Given the description of an element on the screen output the (x, y) to click on. 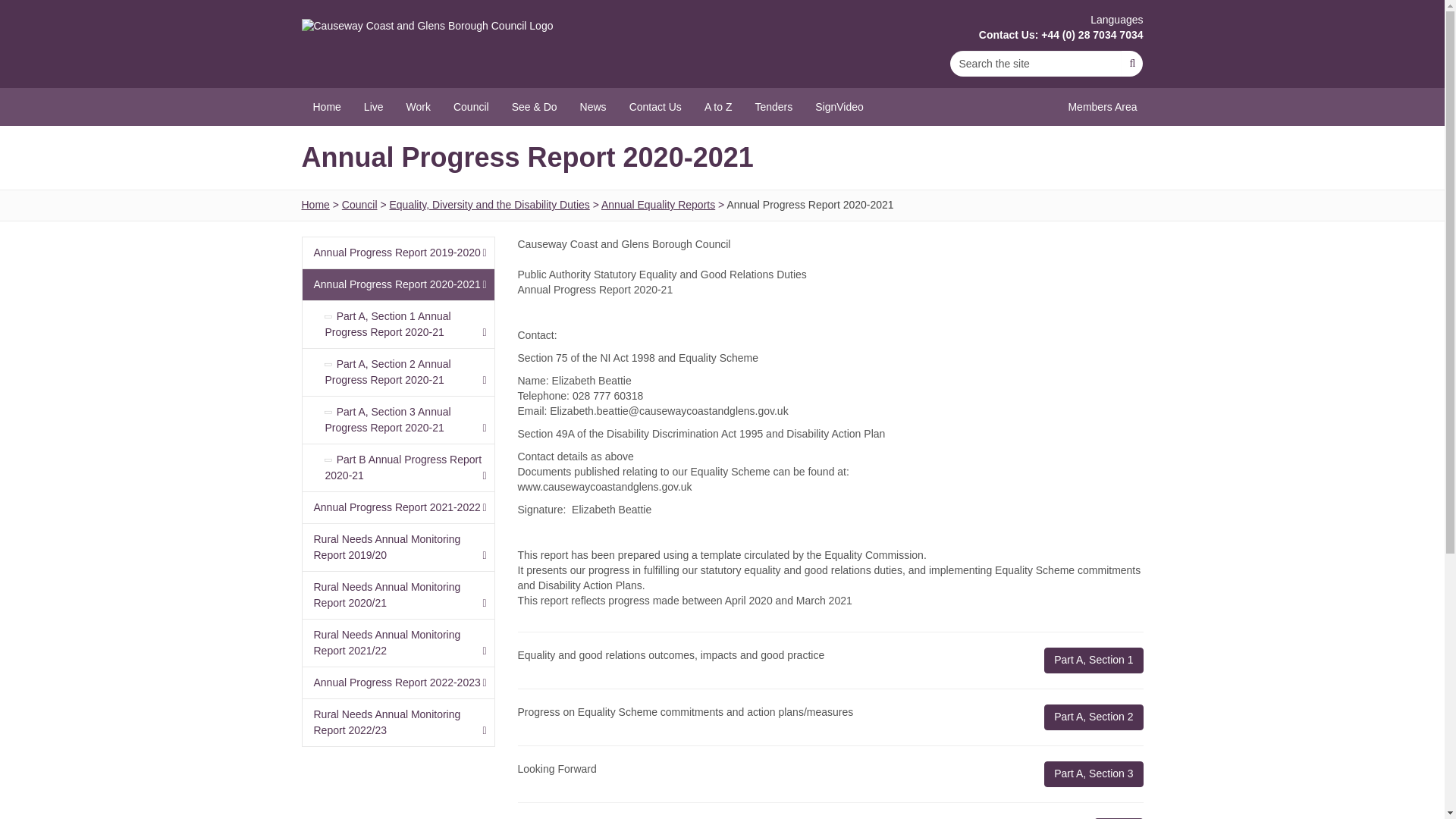
Homepage Link (427, 25)
Annual Progress Report 2019-2020 (398, 252)
Work (418, 106)
Part A, Section 3 Annual Progress Report 2020-21 (398, 419)
Part A, Section 2 Annual Progress Report 2020-21 (398, 371)
Council (471, 106)
Annual Equality Reports (657, 204)
Home (326, 106)
Home (315, 204)
Part B Annual Progress Report 2020-21 (398, 467)
Contact Us (655, 106)
Part A, Section 3 (1092, 774)
Annual Progress Report 2021-2022 (398, 507)
Part A, Section 1 Annual Progress Report 2020-21 (398, 324)
Part B (1118, 818)
